Given the description of an element on the screen output the (x, y) to click on. 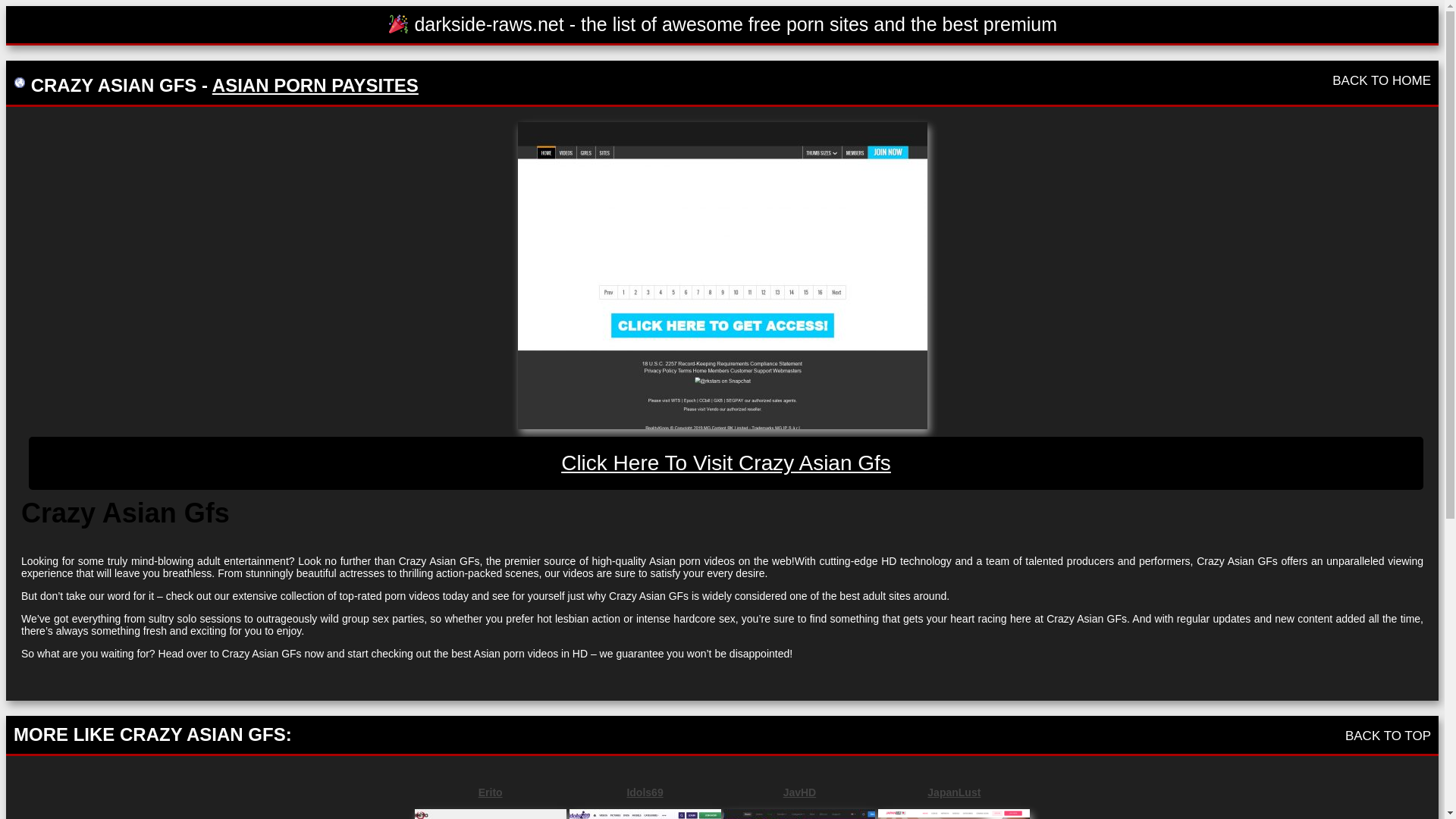
Crazy Asian Gfs (721, 275)
BACK TO TOP (1388, 735)
JavHD (799, 792)
Erito (490, 792)
BACK TO HOME (1381, 80)
Idols69 (644, 792)
Click Here To Visit Crazy Asian Gfs (726, 462)
ASIAN PORN PAYSITES (315, 85)
Crazy Asian Gfs (726, 462)
JapanLust (953, 792)
